Given the description of an element on the screen output the (x, y) to click on. 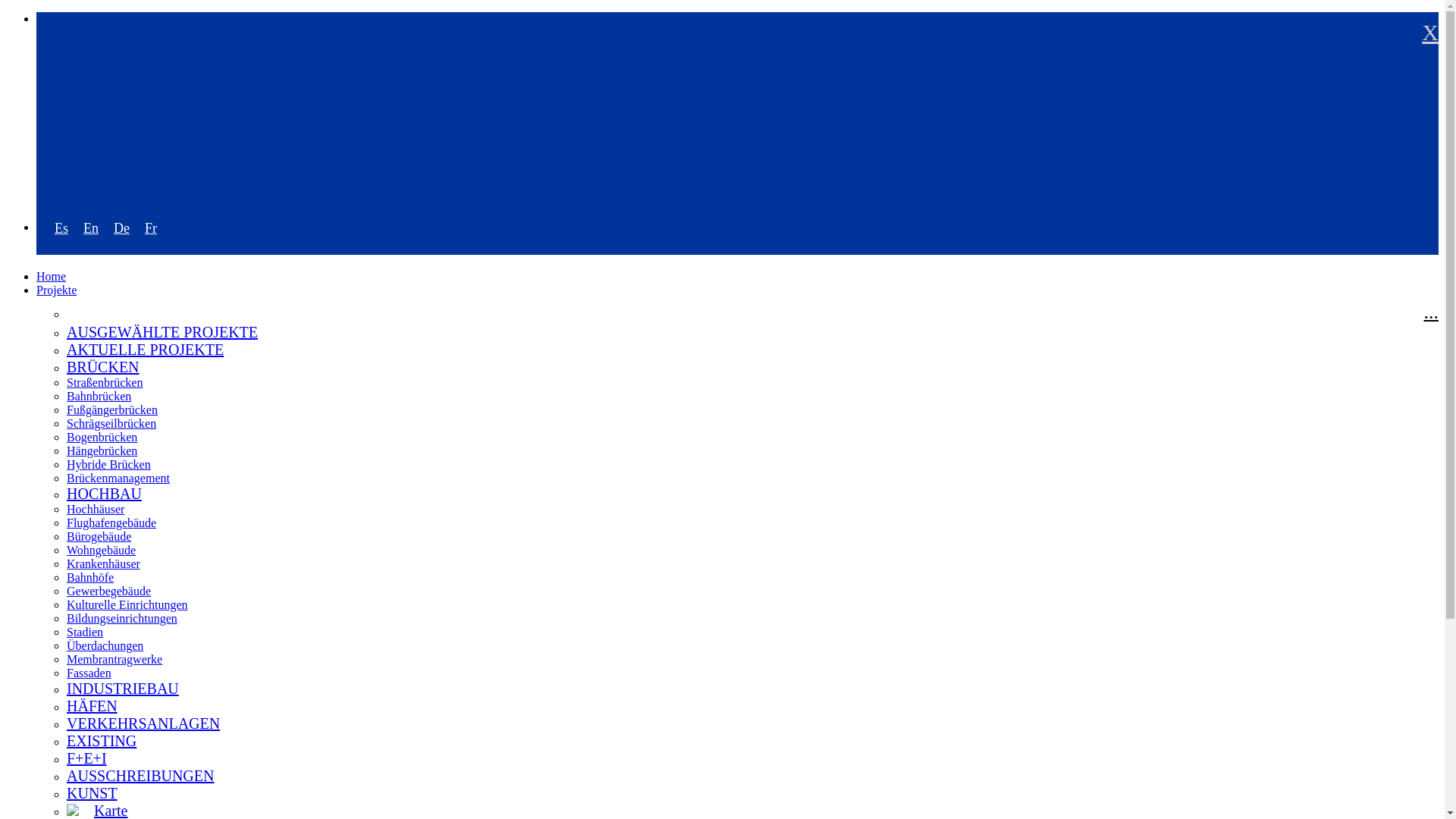
Home (50, 276)
Stadien (84, 631)
Projekte (56, 289)
VERKEHRSANLAGEN (142, 723)
Bildungseinrichtungen (121, 617)
AKTUELLE PROJEKTE (145, 351)
Kulturelle Einrichtungen (126, 604)
INDUSTRIEBAU (122, 689)
EXISTING (101, 746)
HOCHBAU (103, 495)
